Given the description of an element on the screen output the (x, y) to click on. 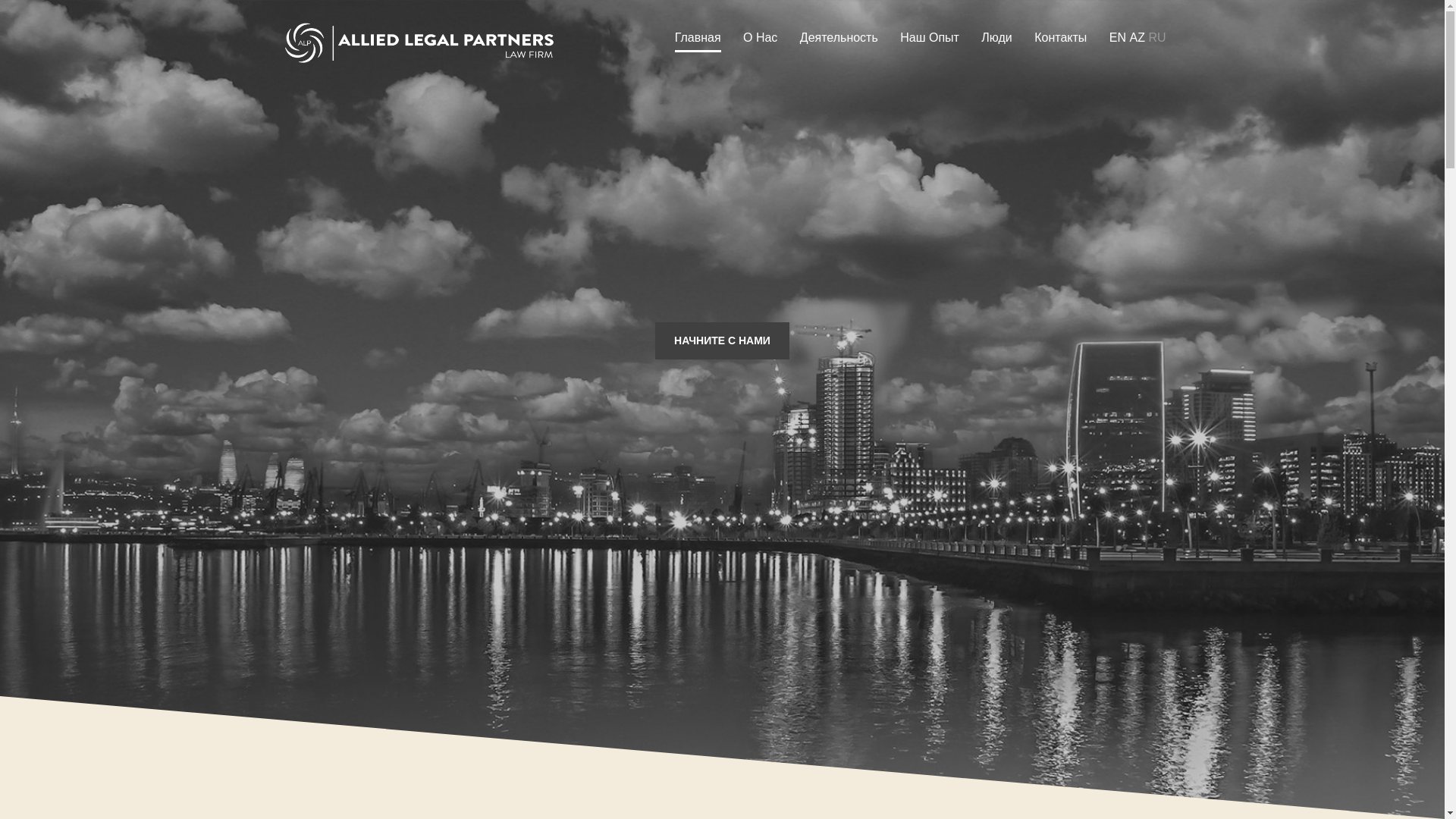
AZ Element type: text (1136, 37)
RU Element type: text (1156, 37)
EN Element type: text (1117, 37)
